Given the description of an element on the screen output the (x, y) to click on. 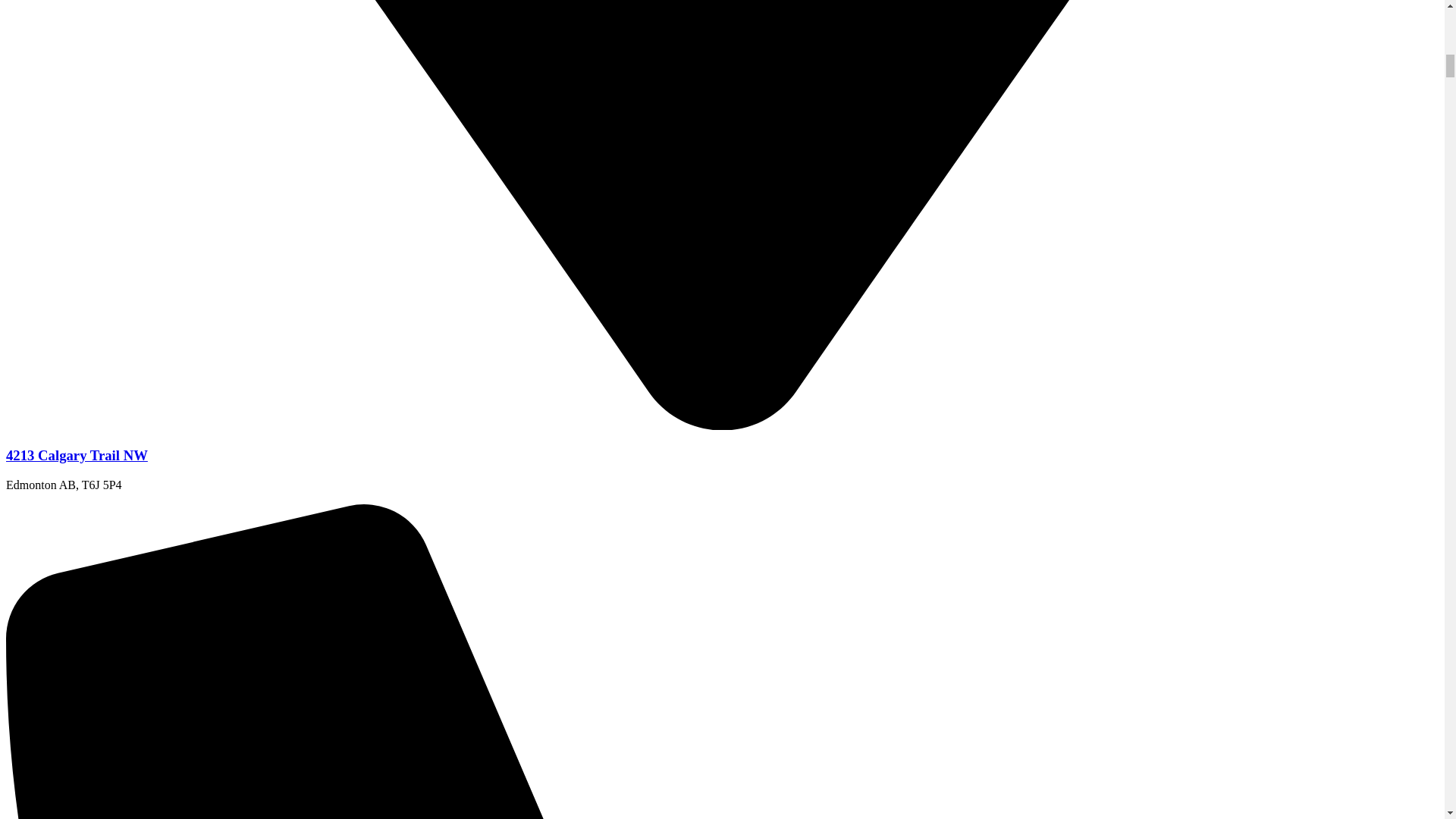
4213 Calgary Trail NW (76, 455)
